Given the description of an element on the screen output the (x, y) to click on. 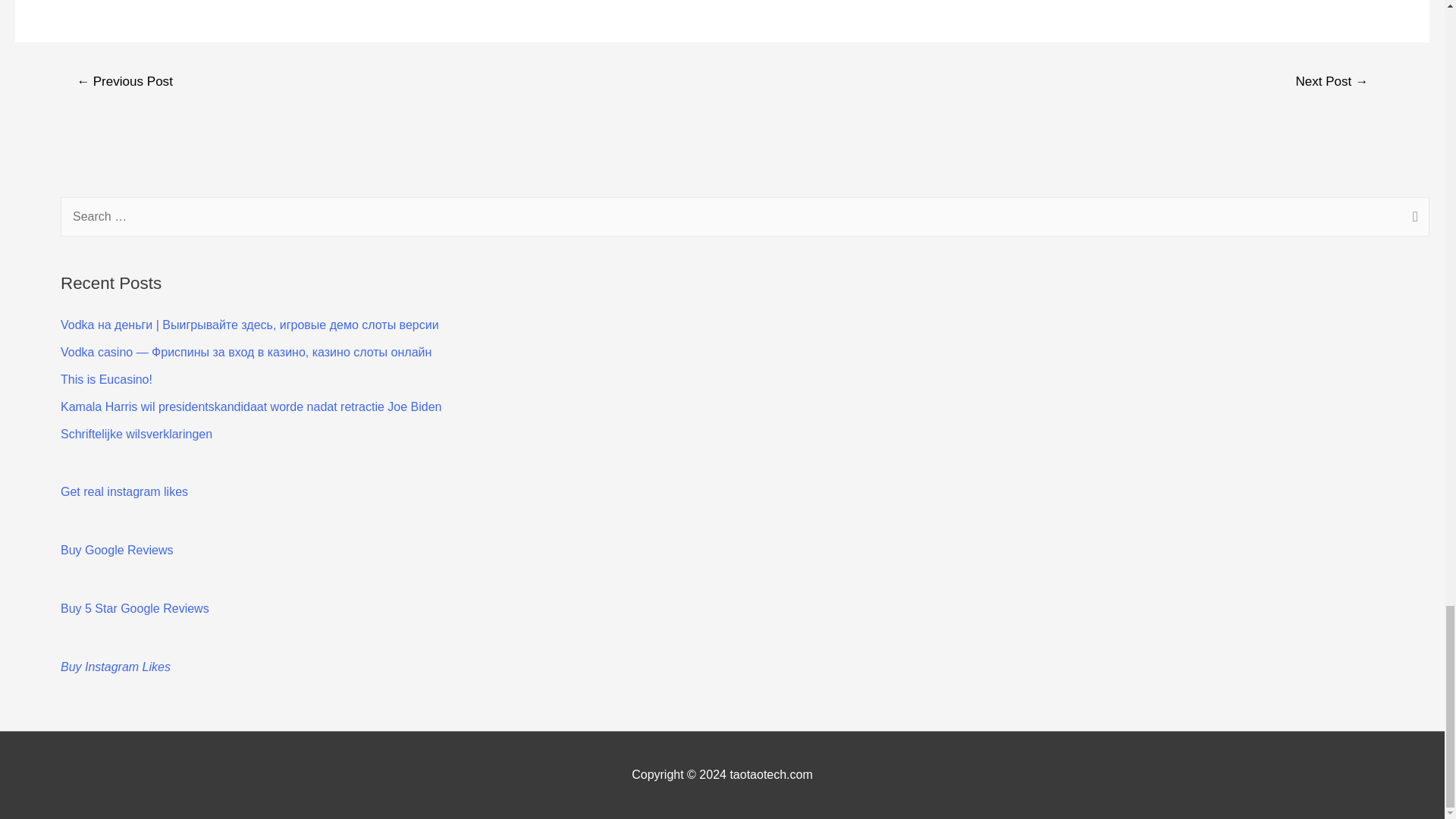
Search (1411, 218)
This is Eucasino! (106, 379)
Buy Instagram Likes (115, 666)
Get real instagram likes (124, 491)
Search (1411, 218)
Search (1411, 218)
Buy Google Reviews (117, 549)
Schriftelijke wilsverklaringen (136, 433)
Buy 5 Star Google Reviews (135, 608)
